Given the description of an element on the screen output the (x, y) to click on. 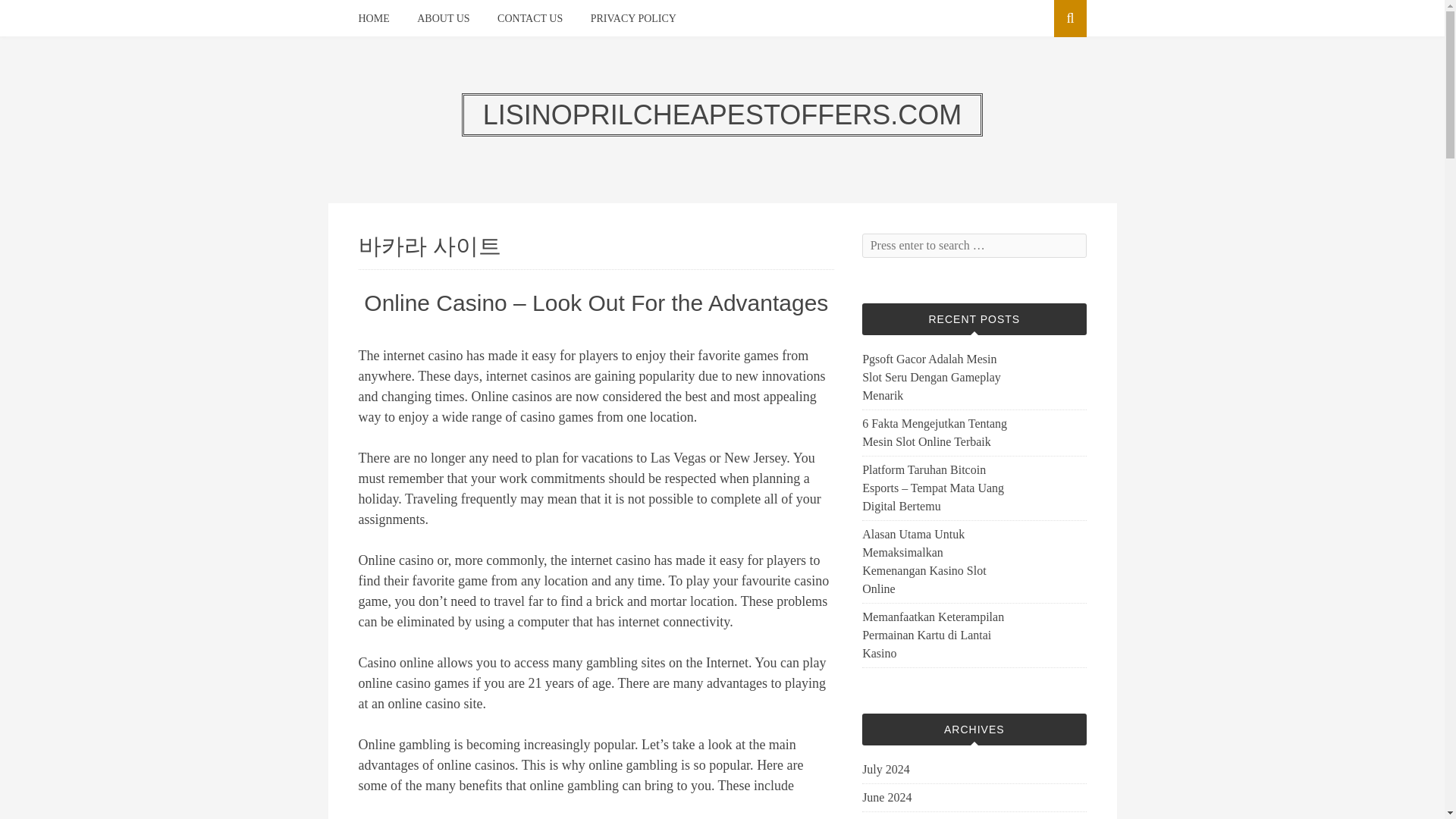
6 Fakta Mengejutkan Tentang Mesin Slot Online Terbaik (934, 432)
Memanfaatkan Keterampilan Permainan Kartu di Lantai Kasino (934, 635)
July 2024 (885, 769)
June 2024 (886, 797)
CONTACT US (529, 18)
Pgsoft Gacor Adalah Mesin Slot Seru Dengan Gameplay Menarik (934, 377)
LISINOPRILCHEAPESTOFFERS.COM (721, 113)
HOME (373, 18)
May 2024 (886, 817)
PRIVACY POLICY (634, 18)
ABOUT US (442, 18)
Search for: (973, 245)
